Given the description of an element on the screen output the (x, y) to click on. 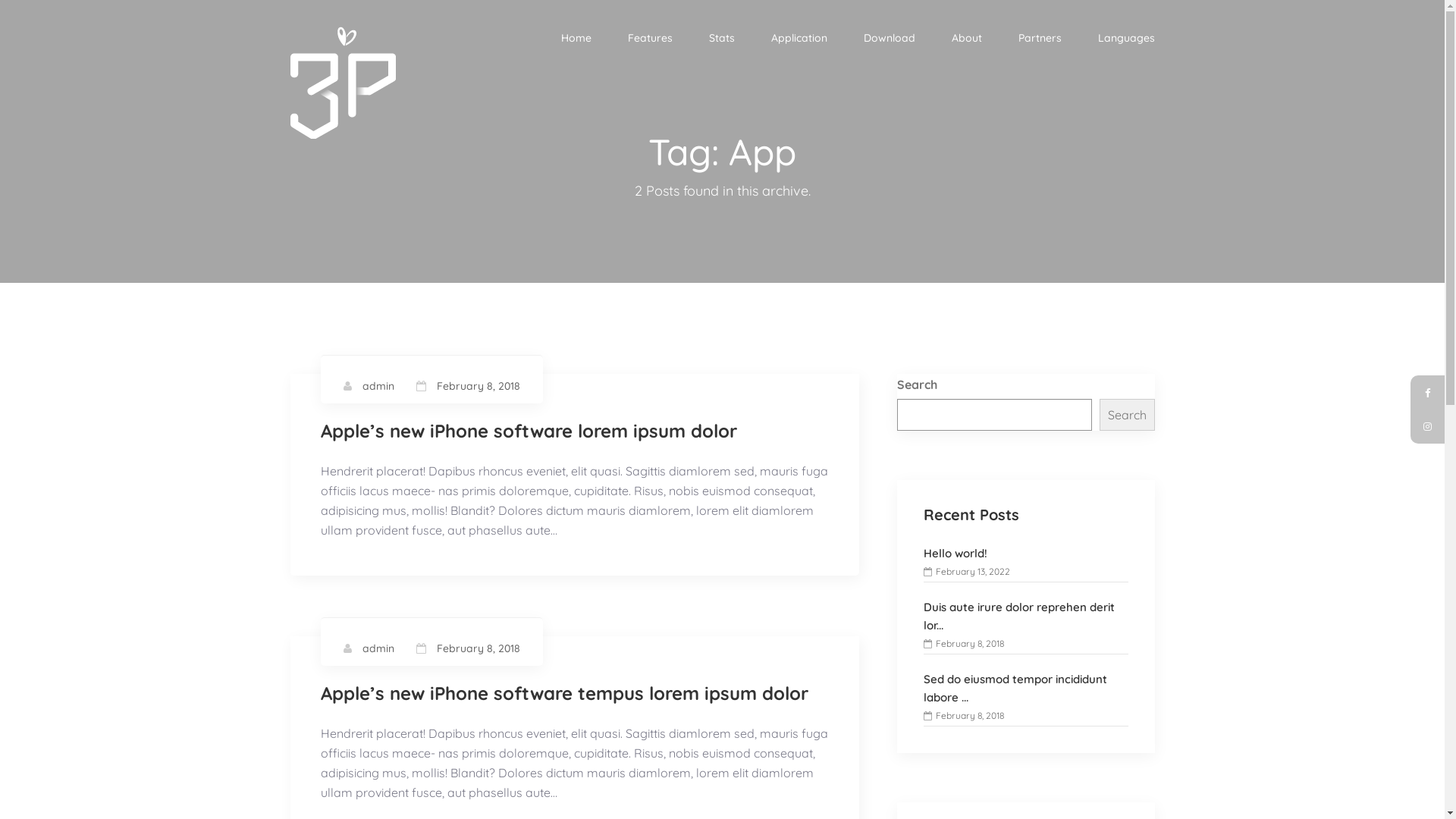
February 8, 2018 Element type: text (478, 385)
Sed do eiusmod tempor incididunt labore ... Element type: text (1025, 688)
Search Element type: text (1126, 414)
admin Element type: text (378, 385)
Duis aute irure dolor reprehen derit lor... Element type: text (1025, 616)
Languages Element type: text (1126, 38)
About Element type: text (965, 38)
February 8, 2018 Element type: text (963, 643)
Hello world! Element type: text (955, 553)
admin Element type: text (378, 648)
Features Element type: text (649, 38)
Application Element type: text (798, 38)
February 13, 2022 Element type: text (966, 571)
Partners Element type: text (1038, 38)
February 8, 2018 Element type: text (963, 715)
Stats Element type: text (721, 38)
February 8, 2018 Element type: text (478, 648)
Instagram Element type: hover (1427, 426)
Facebook Element type: hover (1427, 392)
Home Element type: text (576, 38)
Download Element type: text (888, 38)
